Given the description of an element on the screen output the (x, y) to click on. 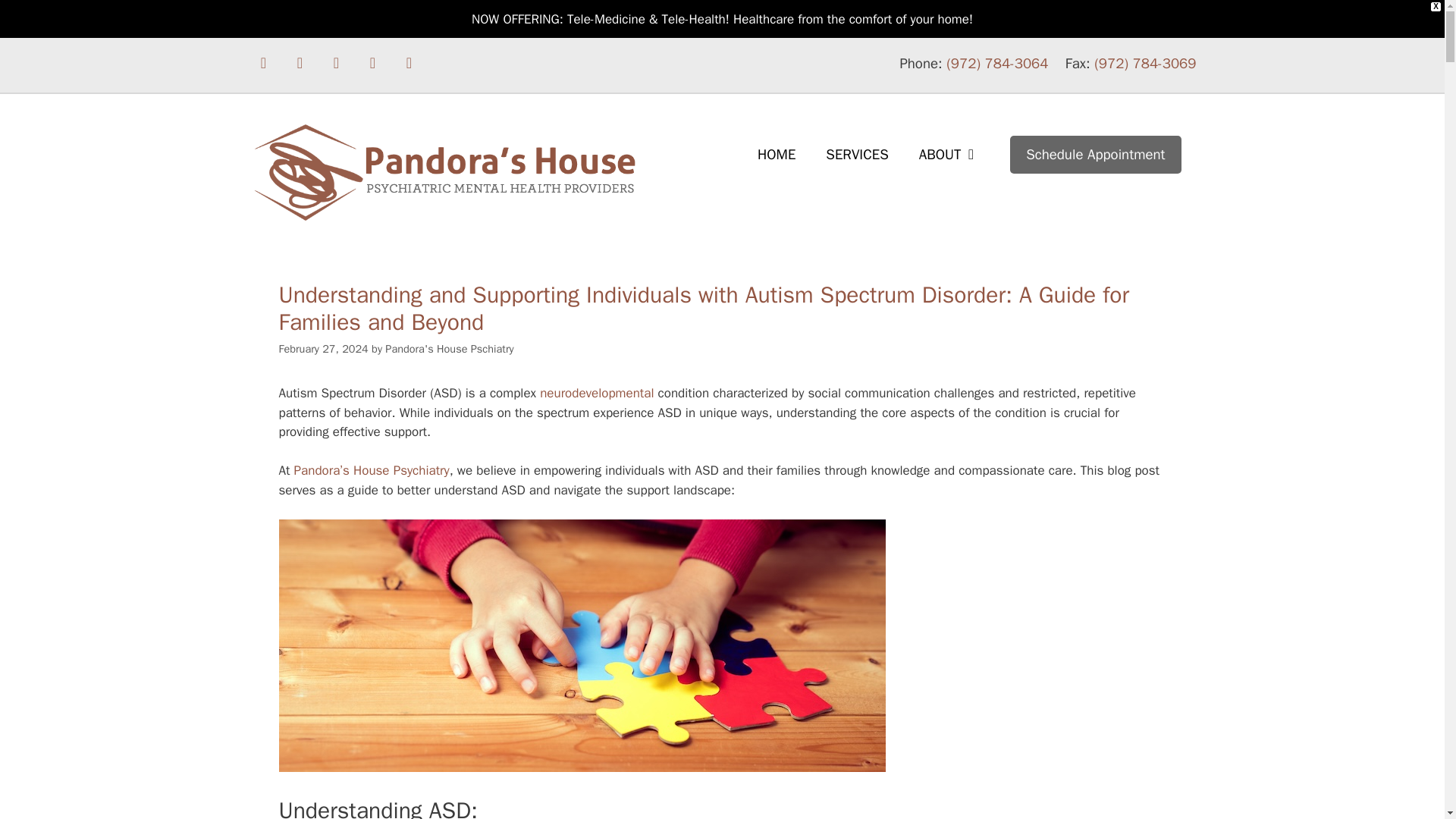
February 27, 2024 (323, 348)
SERVICES (856, 154)
Schedule Appointment (1095, 154)
neurodevelopmental (596, 392)
Pandora's House Pschiatry (449, 348)
Schedule Appointment (1094, 154)
HOME (776, 154)
7:58 pm (323, 348)
View all posts by Pandora's House Pschiatry (449, 348)
ABOUT (949, 154)
